Given the description of an element on the screen output the (x, y) to click on. 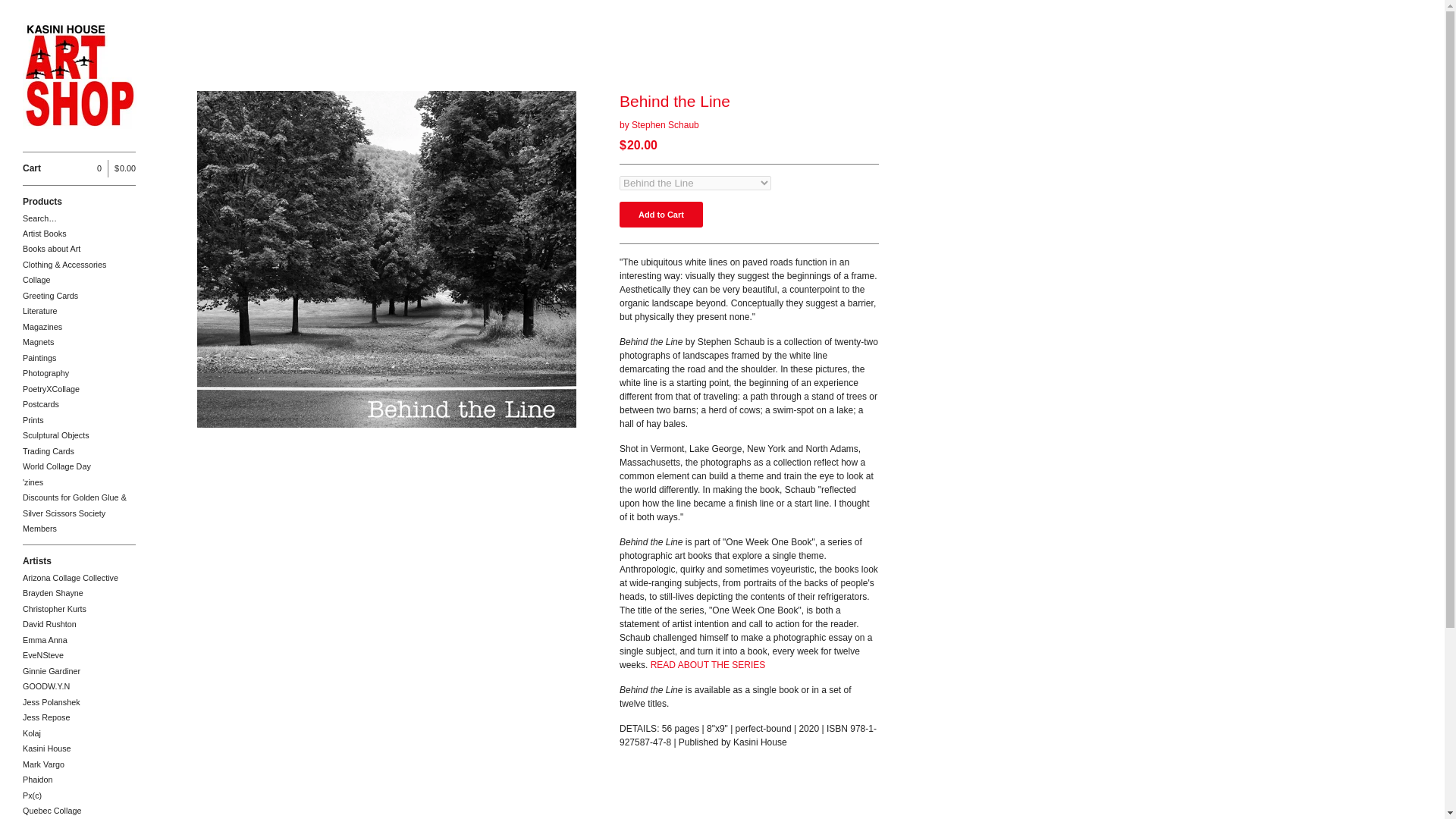
Sculptural Objects (79, 435)
Jess Repose (79, 717)
Kasini House Artshop (79, 75)
Emma Anna (79, 640)
Phaidon (79, 779)
View Collage (79, 279)
Mark Vargo (79, 764)
View World Collage Day (79, 466)
Photography (79, 373)
Literature (79, 311)
View Prints (79, 420)
View Paintings (79, 358)
Jess Polanshek (79, 702)
Magazines (79, 326)
EveNSteve (79, 655)
